Given the description of an element on the screen output the (x, y) to click on. 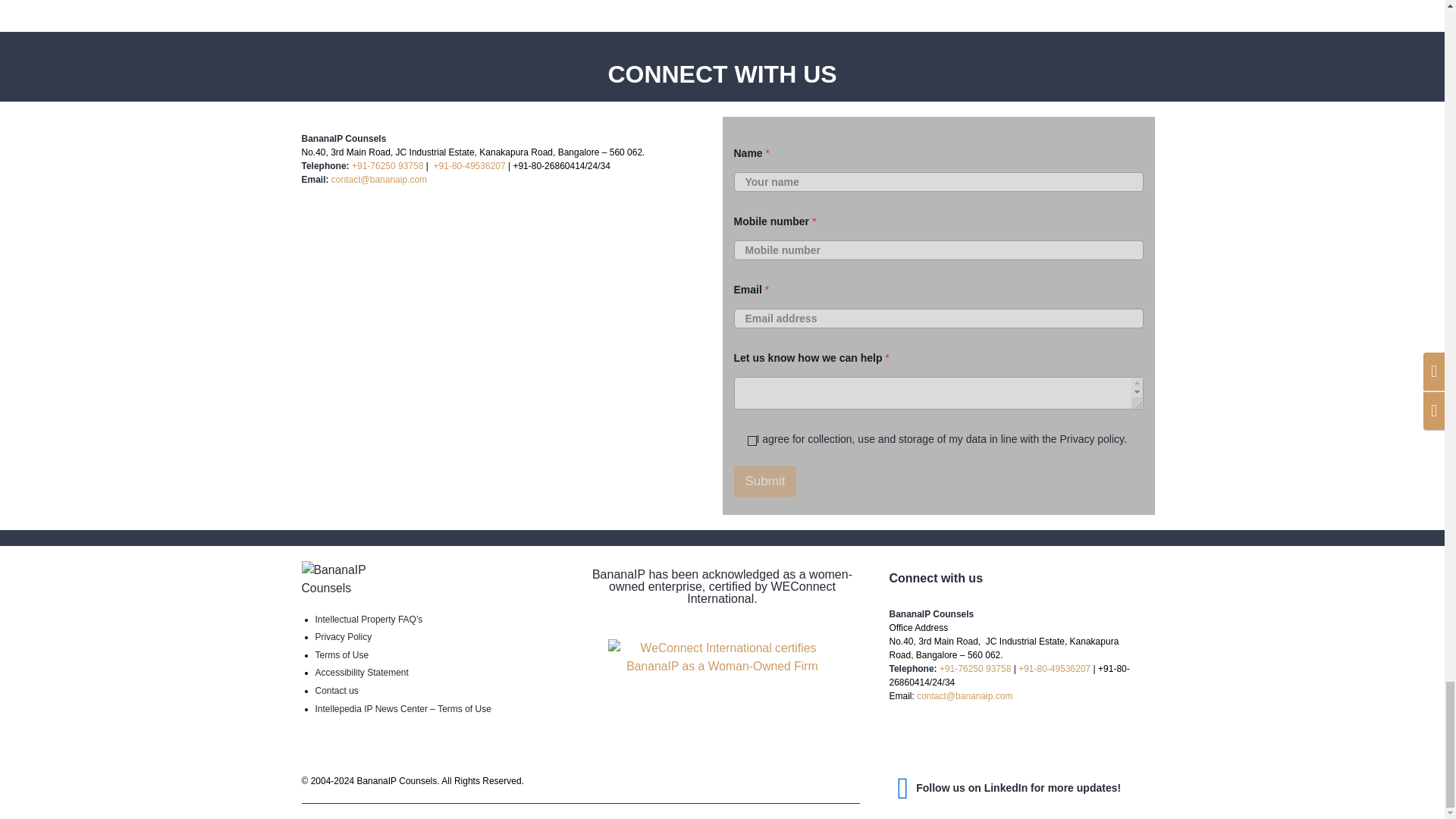
BananaIP Counsels (506, 352)
